Given the description of an element on the screen output the (x, y) to click on. 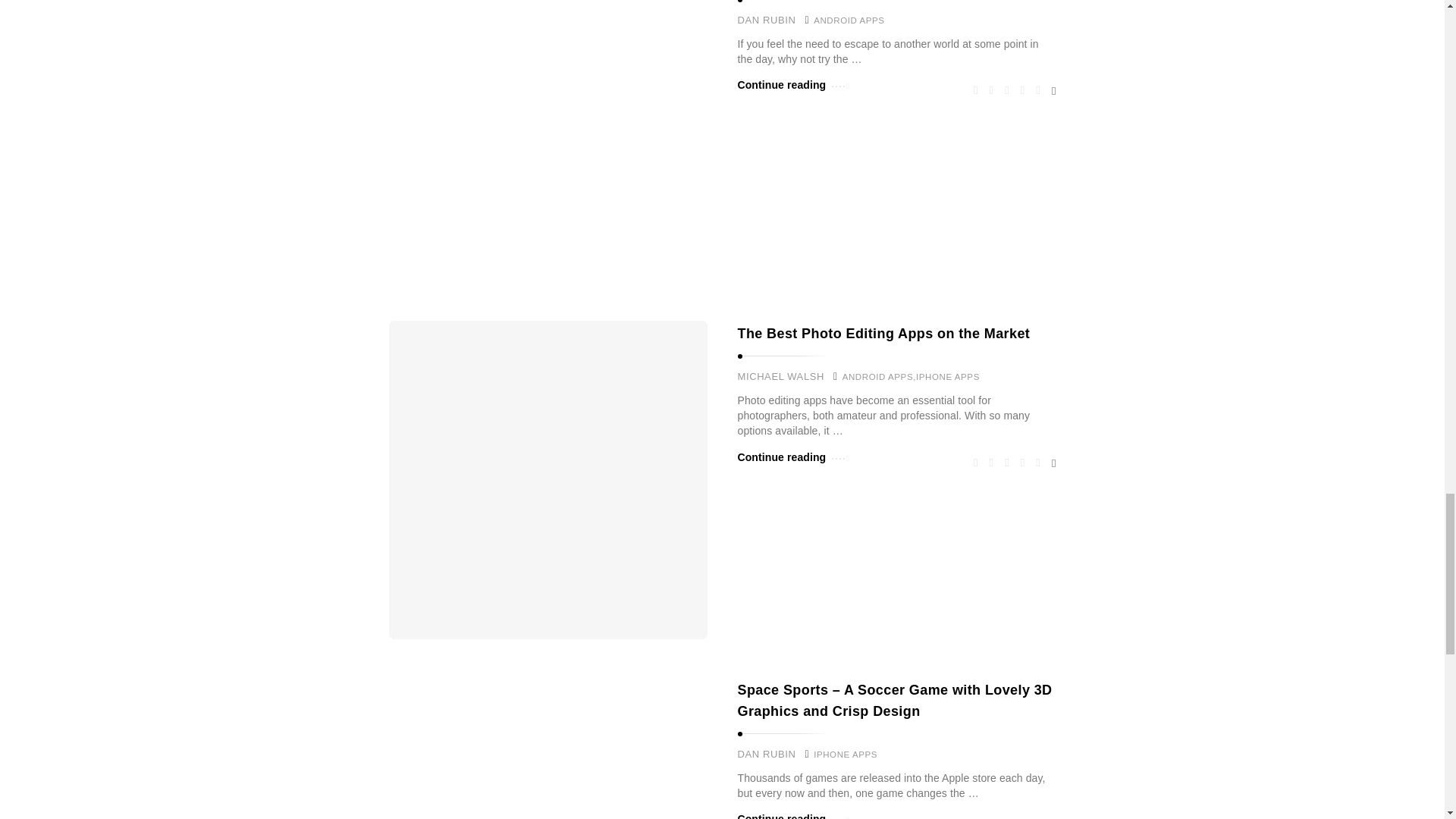
ANDROID APPS (848, 20)
Continue reading (792, 85)
DAN RUBIN (765, 20)
